Given the description of an element on the screen output the (x, y) to click on. 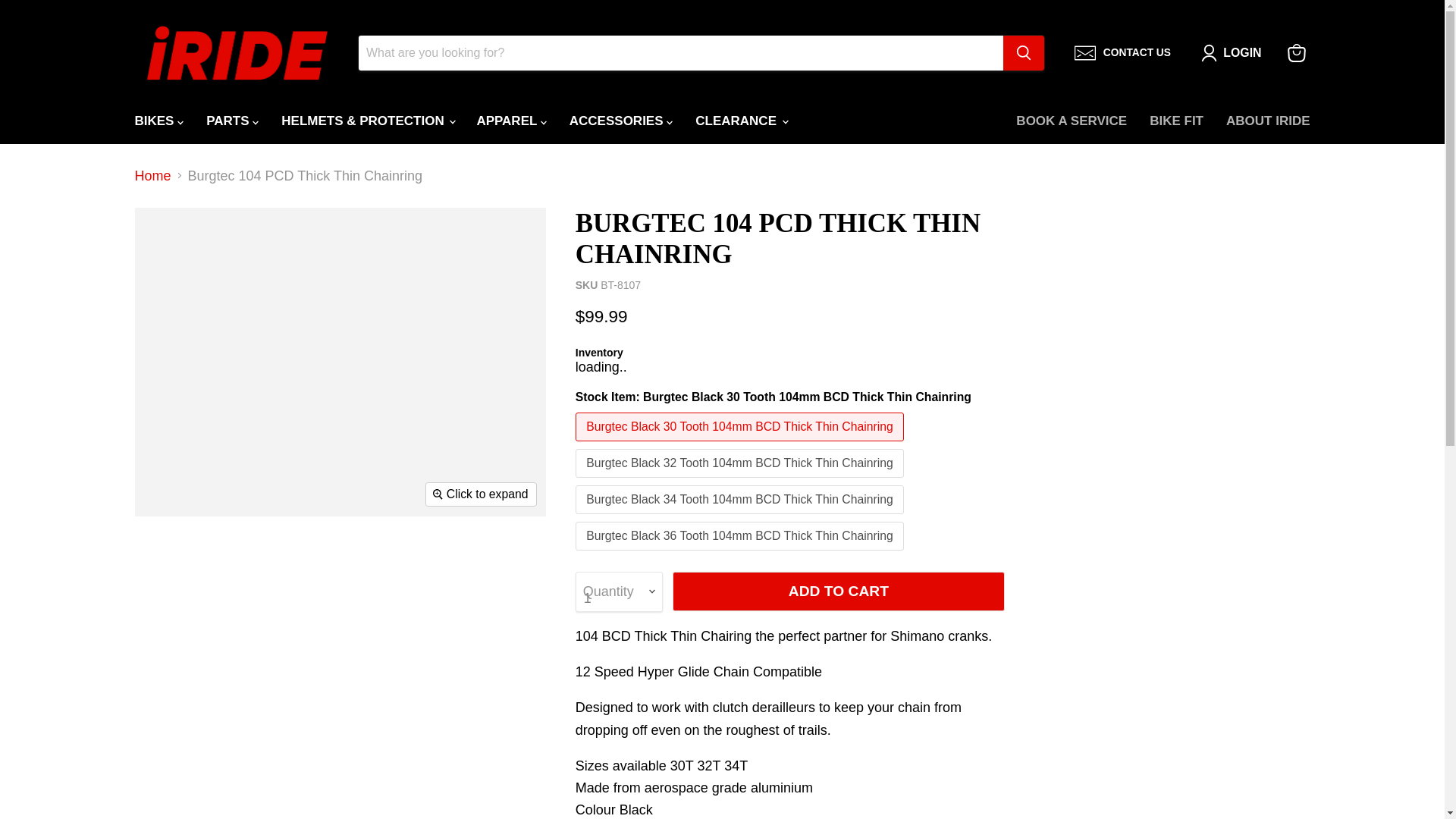
CONTACT US (1122, 52)
LOGIN (1241, 53)
View cart (1296, 52)
